Given the description of an element on the screen output the (x, y) to click on. 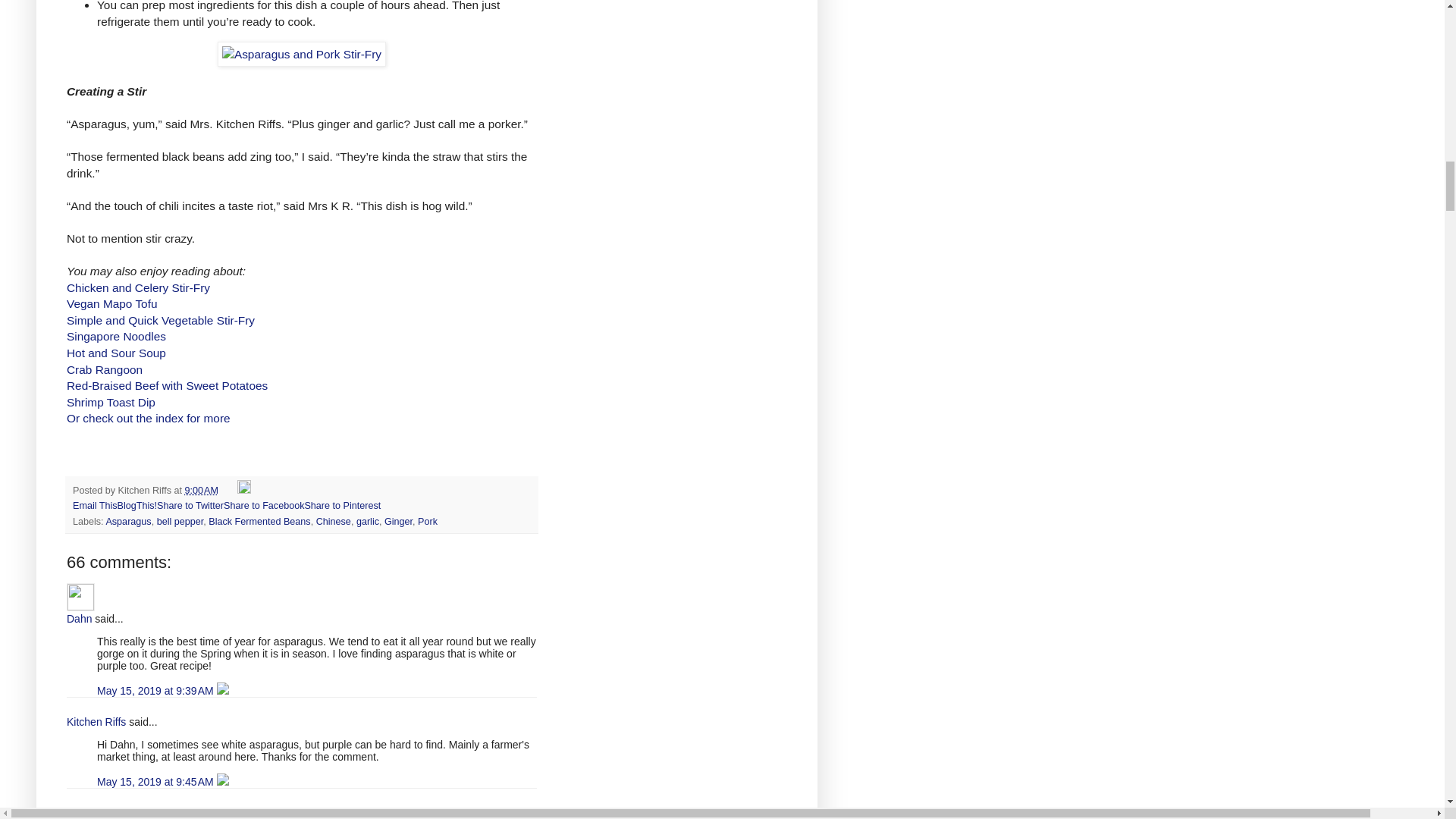
Ginger (398, 521)
Delete Comment (222, 690)
comment permalink (156, 690)
Asparagus and Pork Stir-Fry (300, 54)
Crab Rangoon (104, 369)
Email This (94, 505)
Dahn (80, 596)
Shrimp Toast Dip (110, 401)
Singapore Noodles (115, 336)
